Given the description of an element on the screen output the (x, y) to click on. 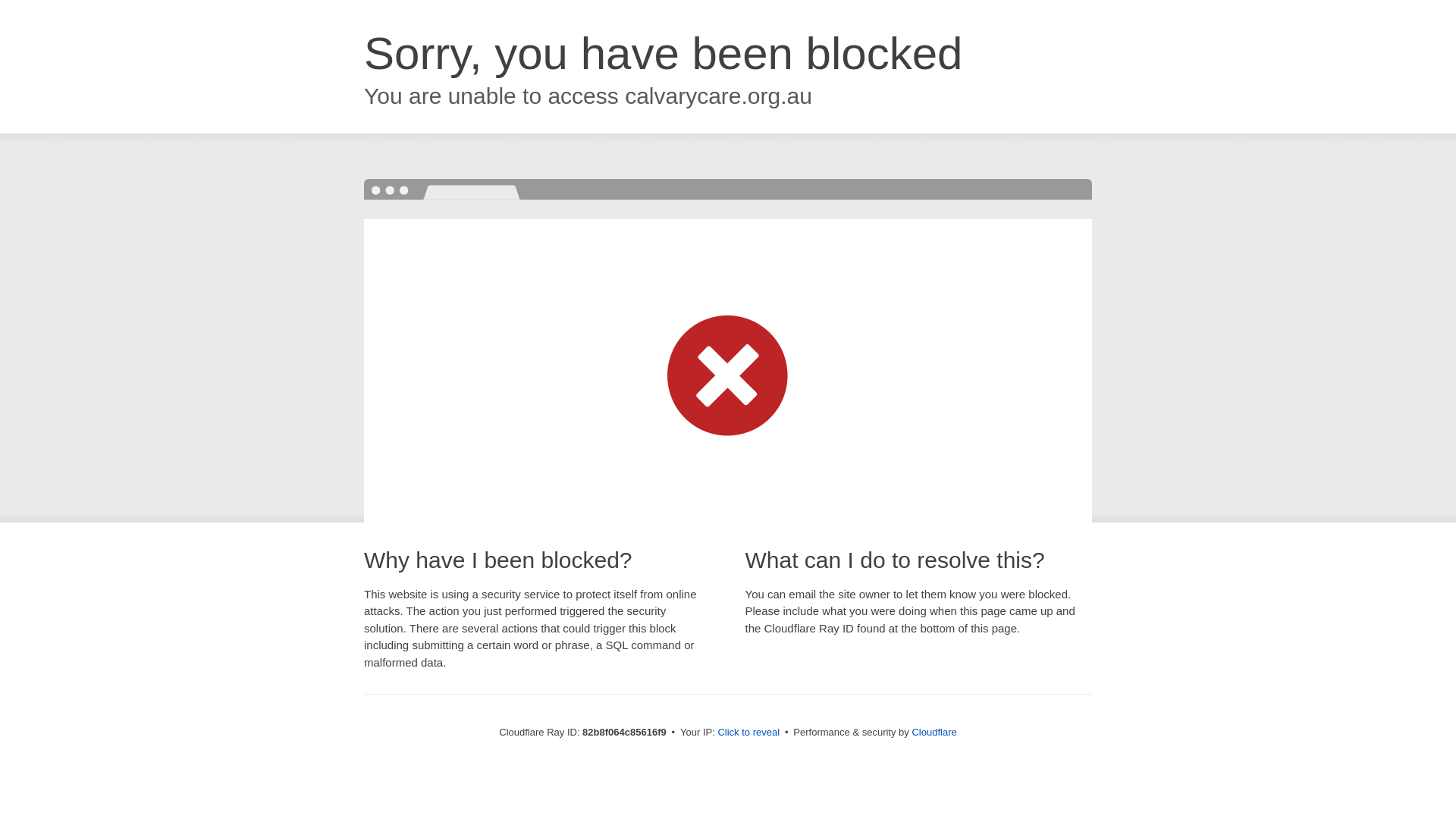
Click to reveal Element type: text (748, 732)
Cloudflare Element type: text (933, 731)
